Given the description of an element on the screen output the (x, y) to click on. 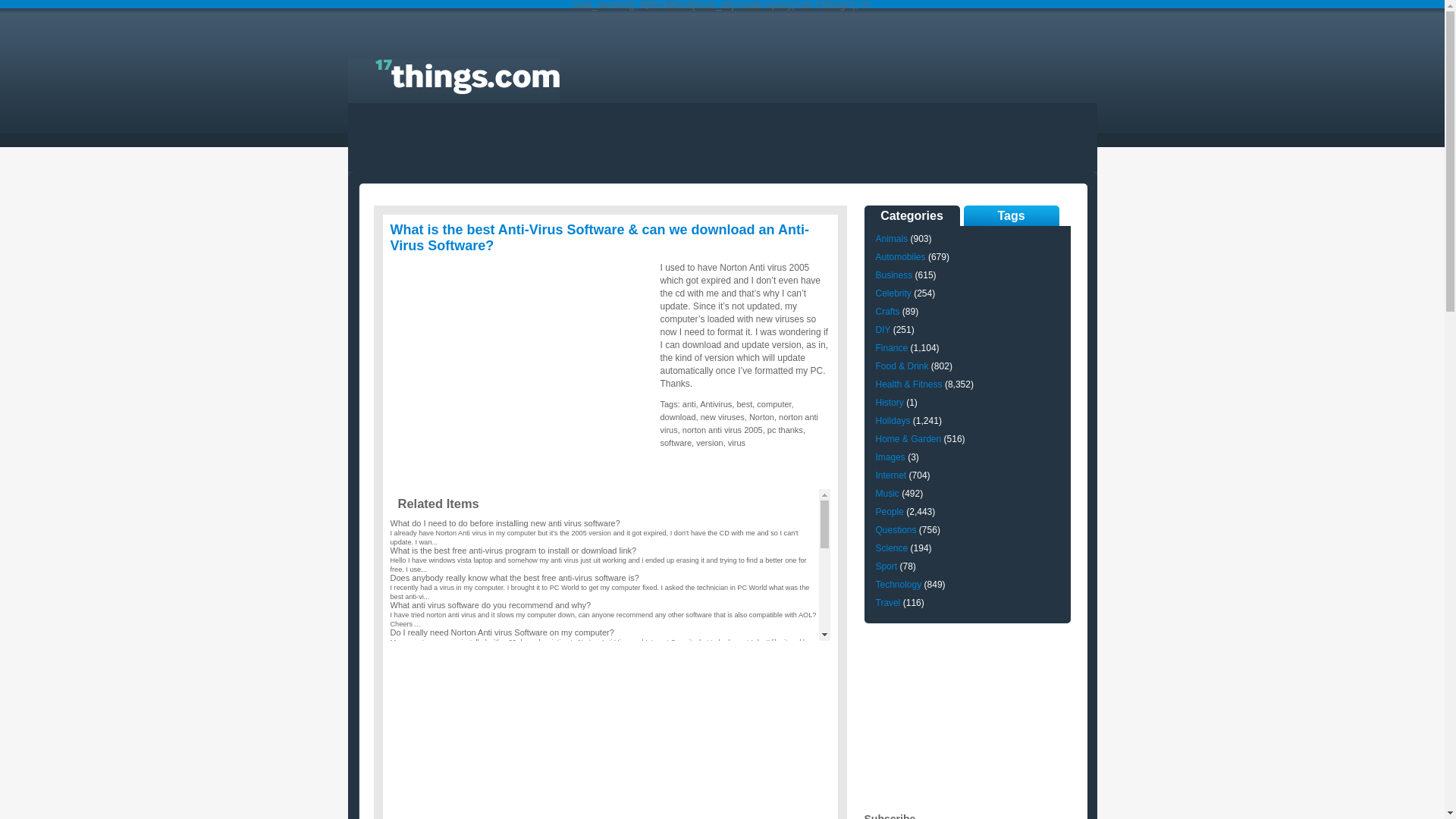
What anti virus software do you recommend and why? Element type: text (489, 604)
version Element type: text (709, 442)
Celebrity Element type: text (892, 293)
software Element type: text (675, 442)
Science Element type: text (891, 547)
download Element type: text (677, 416)
Questions Element type: text (895, 529)
Categories Element type: text (912, 215)
Travel Element type: text (887, 602)
History Element type: text (889, 402)
DIY Element type: text (882, 329)
Crafts Element type: text (887, 311)
Food & Drink Element type: text (901, 365)
norton anti virus Element type: text (738, 423)
Music Element type: text (886, 493)
virus Element type: text (736, 442)
Technology Element type: text (898, 584)
Health & Fitness Element type: text (908, 384)
norton anti virus 2005 Element type: text (722, 429)
new viruses Element type: text (722, 416)
Sport Element type: text (886, 566)
What is the Best anti virus software to download? Element type: text (480, 777)
Images Element type: text (889, 456)
Do I really need Norton Anti virus Software on my computer? Element type: text (501, 632)
Animals Element type: text (891, 238)
pc thanks Element type: text (785, 429)
anti Element type: text (689, 403)
People Element type: text (889, 511)
best Element type: text (744, 403)
Internet Element type: text (890, 475)
Tags Element type: text (1010, 215)
Automobiles Element type: text (900, 256)
Business Element type: text (893, 274)
Home & Garden Element type: text (908, 438)
Finance Element type: text (891, 347)
Norton Element type: text (761, 416)
computer Element type: text (773, 403)
Holidays Element type: text (892, 420)
Antivirus Element type: text (715, 403)
